Given the description of an element on the screen output the (x, y) to click on. 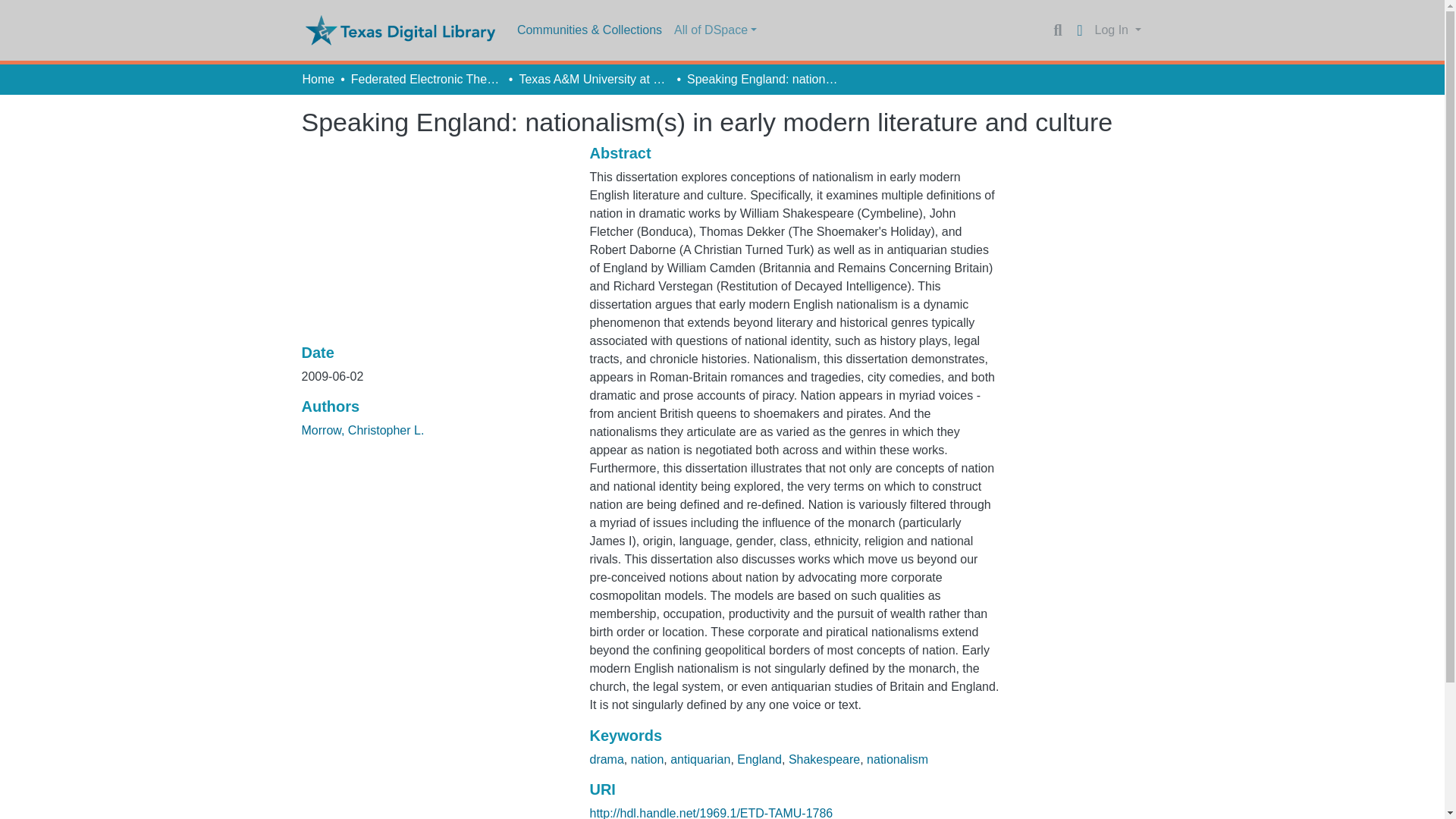
antiquarian (699, 758)
nation (646, 758)
Federated Electronic Theses and Dissertations (426, 79)
Morrow, Christopher L. (363, 430)
nationalism (897, 758)
drama (606, 758)
Language switch (1079, 30)
Shakespeare (824, 758)
England (758, 758)
All of DSpace (715, 30)
